Given the description of an element on the screen output the (x, y) to click on. 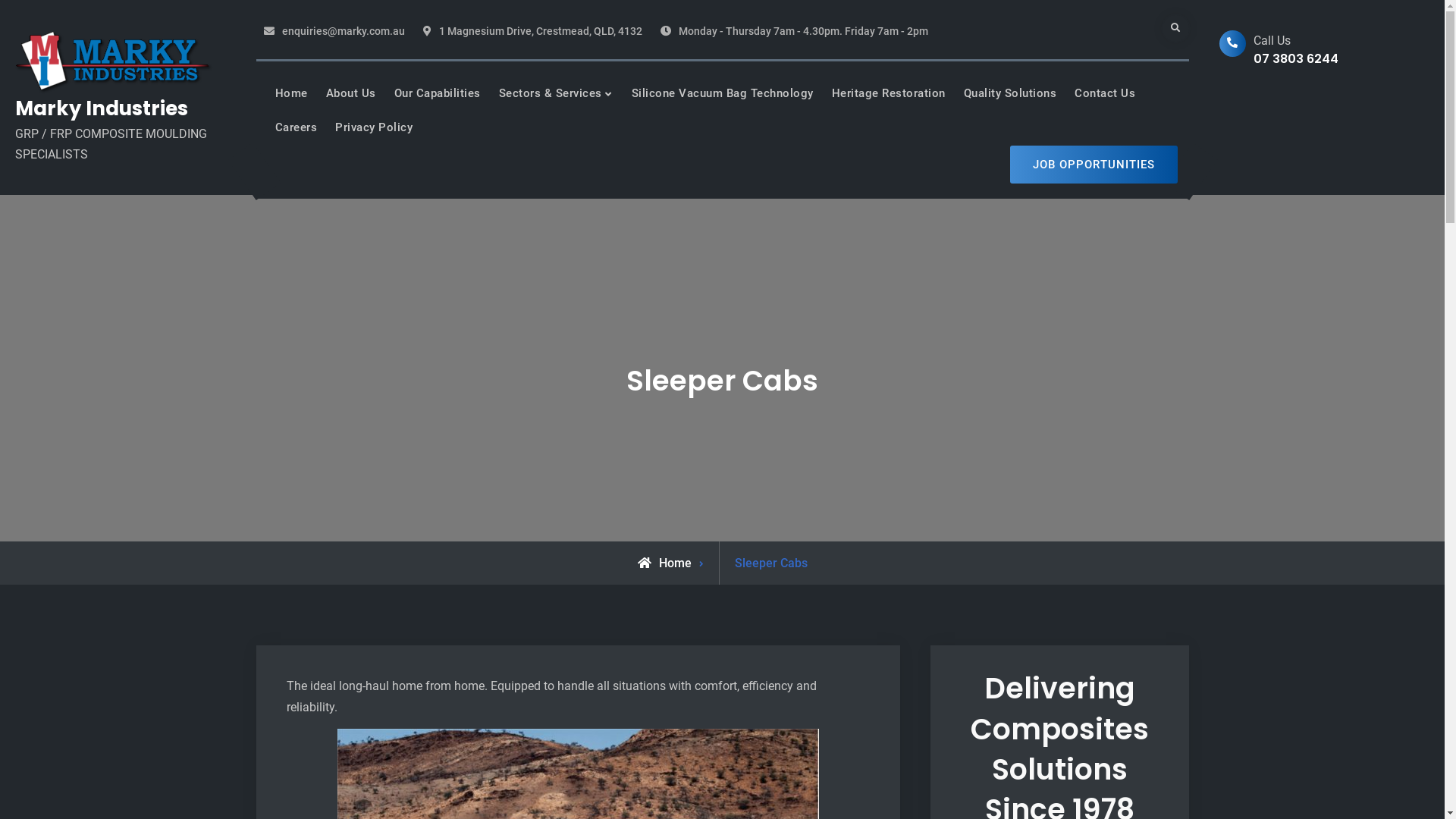
About Us Element type: text (350, 92)
Home Element type: text (663, 562)
Contact Us Element type: text (1104, 92)
Quality Solutions Element type: text (1009, 92)
Silicone Vacuum Bag Technology Element type: text (721, 92)
Search Element type: text (1174, 28)
enquiries@marky.com.au Element type: text (343, 30)
Sectors & Services Element type: text (556, 92)
JOB OPPORTUNITIES Element type: text (1093, 164)
Home Element type: text (290, 92)
Privacy Policy Element type: text (373, 127)
Careers Element type: text (295, 127)
Our Capabilities Element type: text (437, 92)
Marky Industries Element type: text (101, 108)
07 3803 6244 Element type: text (1294, 58)
Heritage Restoration Element type: text (887, 92)
